Given the description of an element on the screen output the (x, y) to click on. 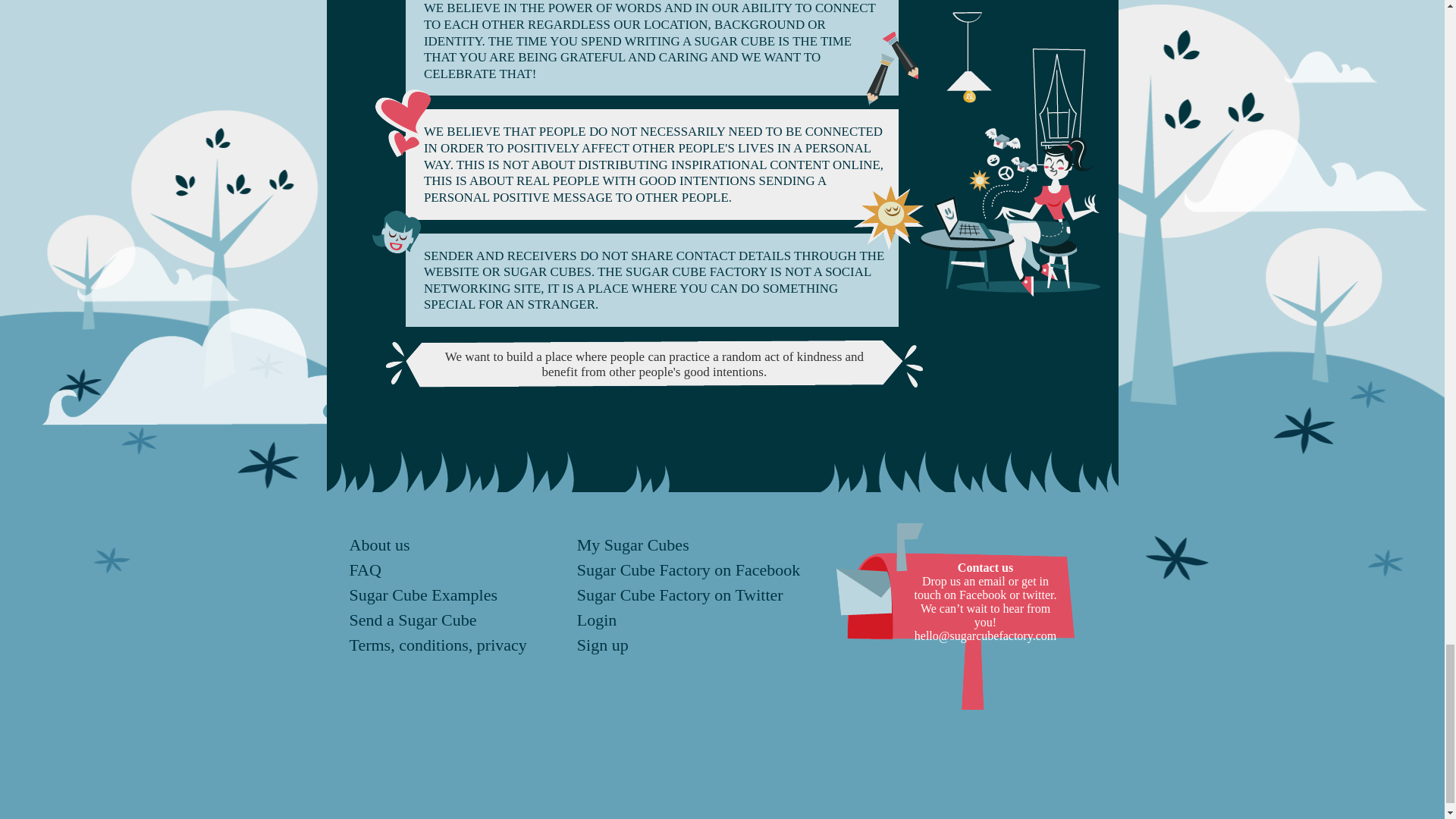
Sugar Cube Factory on Facebook (688, 569)
Terms, conditions, privacy (437, 644)
About us (379, 544)
Sugar Cube Examples (423, 594)
Sugar Cube Factory on Twitter (679, 594)
My Sugar Cubes (632, 544)
Send a Sugar Cube (412, 619)
FAQ (364, 569)
Sign up (602, 644)
Login (596, 619)
